Given the description of an element on the screen output the (x, y) to click on. 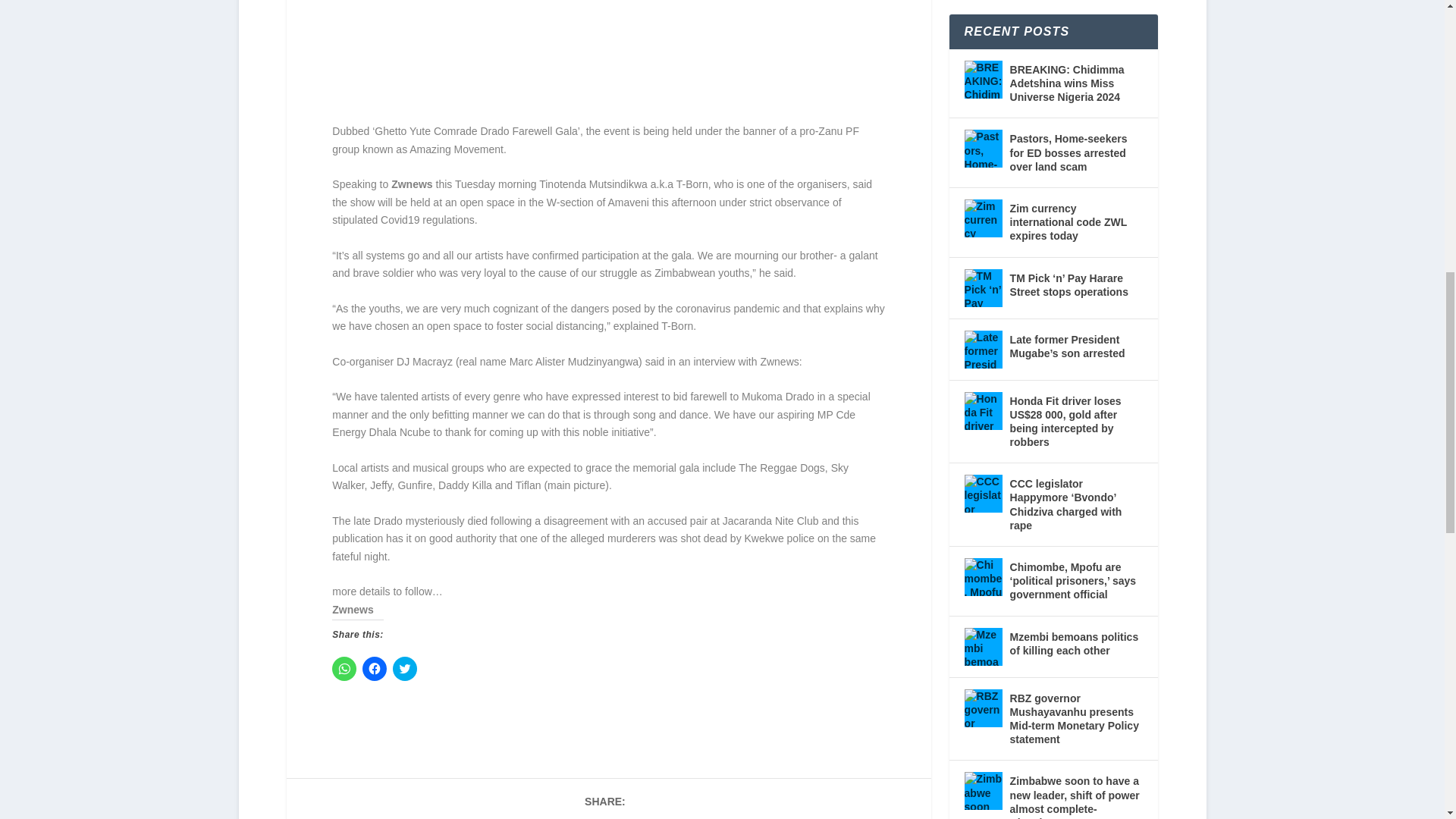
Click to share on Twitter (404, 668)
Click to share on Facebook (374, 668)
Click to share on WhatsApp (343, 668)
